Given the description of an element on the screen output the (x, y) to click on. 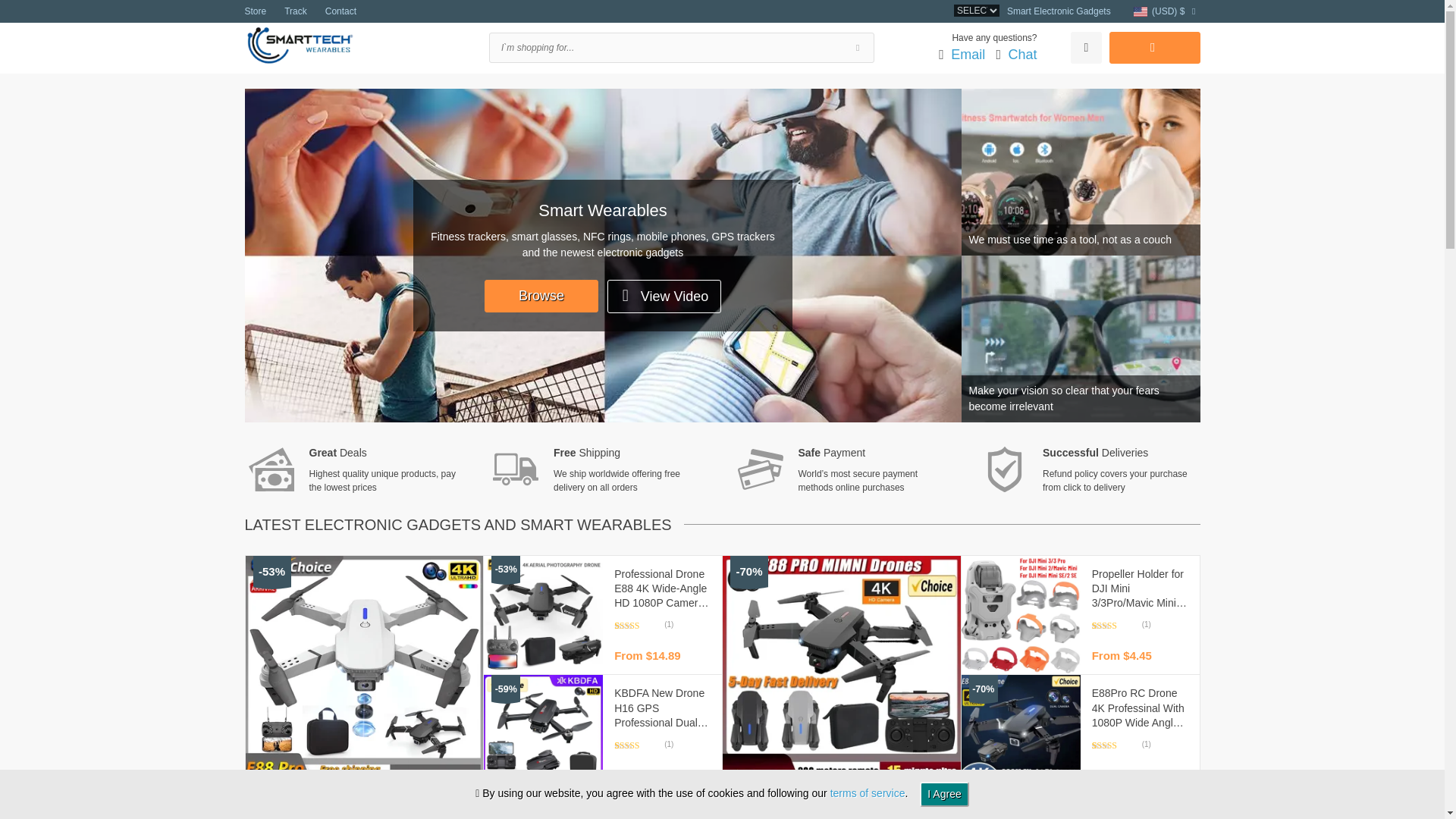
Cart (1153, 47)
chat (1021, 54)
Store (255, 11)
Track (295, 11)
Contact (967, 54)
Wishlist (1085, 47)
Contact (340, 11)
Browse (541, 296)
Make your vision so clear that your fears become irrelevant (1079, 337)
Email (967, 54)
Cookies Policy (867, 793)
Chat (1021, 54)
We must use time as a tool, not as a couch (1079, 170)
View Video (663, 295)
Smart Electronic Devices (302, 44)
